Given the description of an element on the screen output the (x, y) to click on. 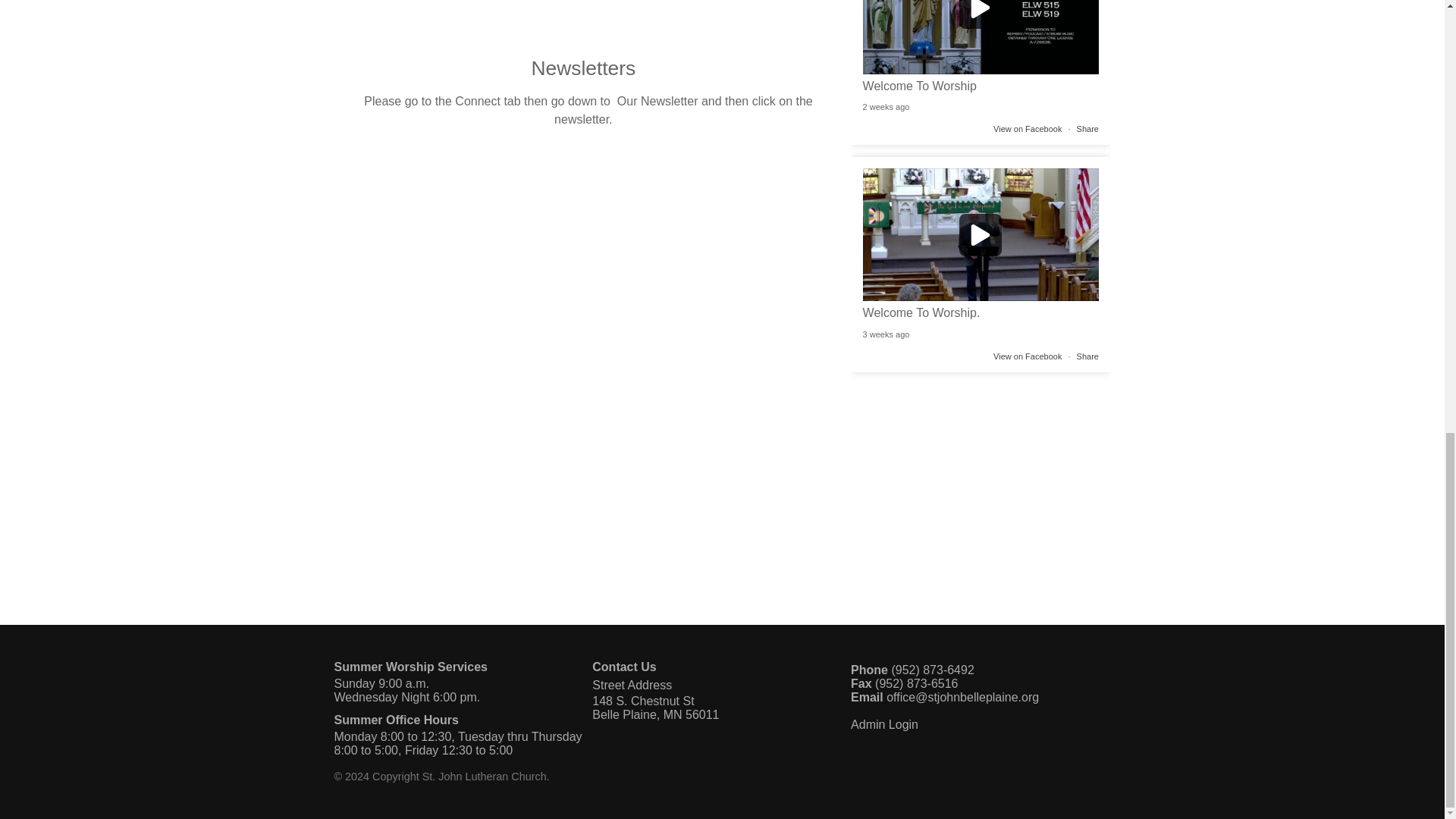
Share (1088, 128)
Share (1088, 128)
View on Facebook (1026, 128)
View on Facebook (1026, 128)
Play (981, 37)
Share (1088, 355)
View on Facebook (1026, 355)
